Given the description of an element on the screen output the (x, y) to click on. 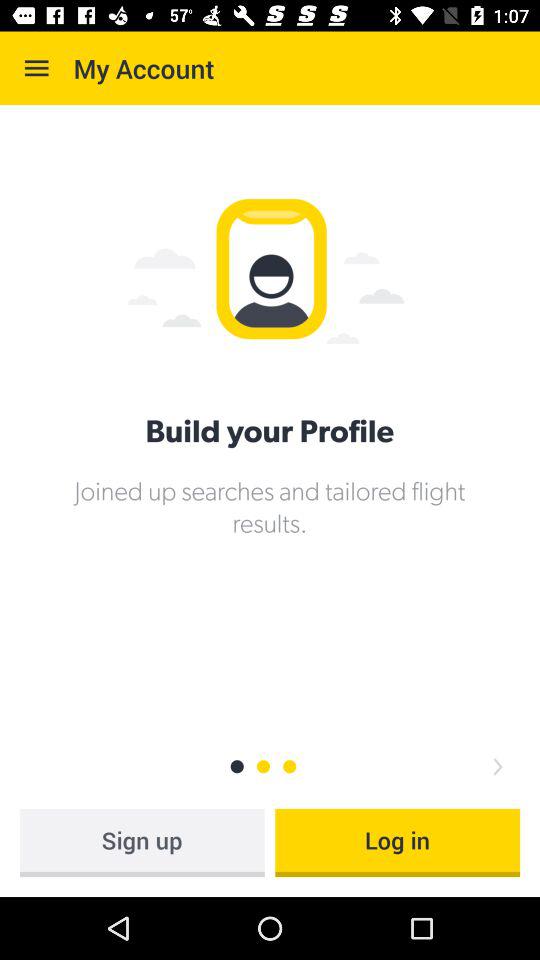
scroll to the log in (397, 842)
